Given the description of an element on the screen output the (x, y) to click on. 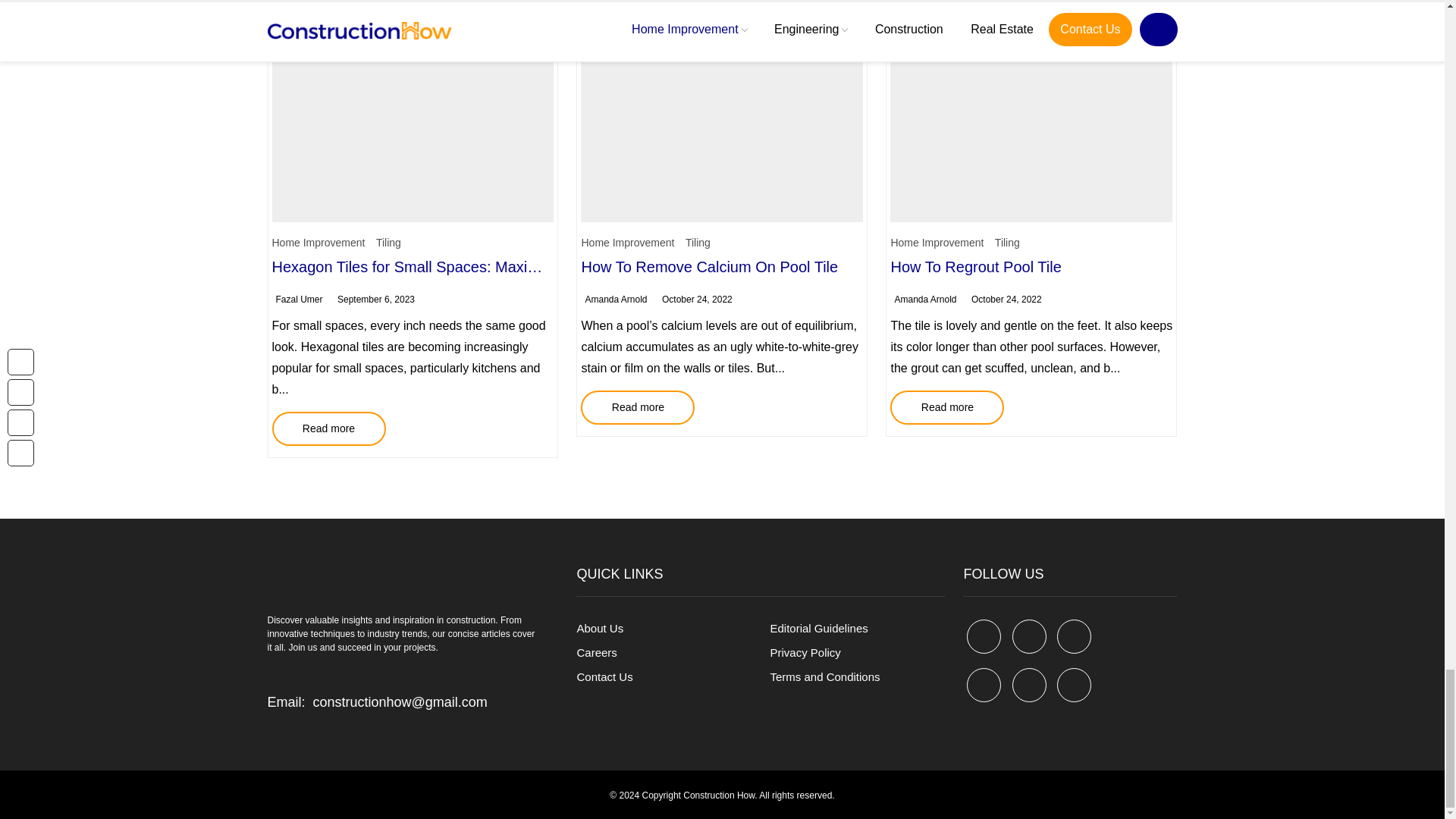
pinterest (1073, 636)
tiktok (1028, 684)
twitter (1028, 636)
youtube (983, 684)
facebook (983, 636)
